Given the description of an element on the screen output the (x, y) to click on. 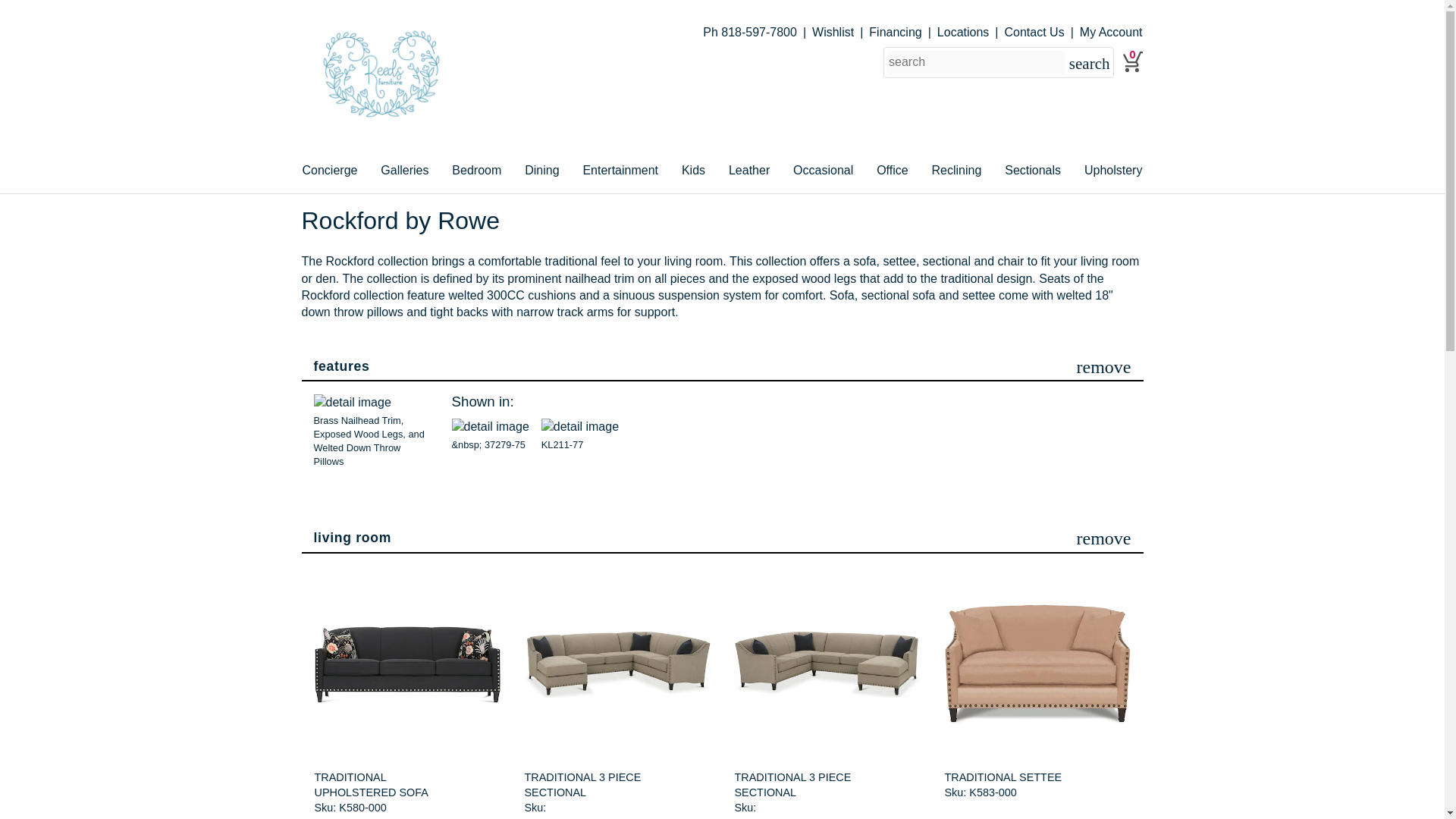
Locations (970, 32)
Click to view this Item. (592, 784)
Contact Us (1041, 32)
Click to view this Item. (1037, 664)
Click to view this Item. (617, 664)
View Larger Image (371, 431)
Click to view this Item. (826, 664)
Click to view this Item. (381, 784)
Wishlist (840, 31)
Concierge (328, 171)
Ph 818-597-7800 (757, 31)
Galleries (404, 171)
View Larger Image (579, 435)
Financing (903, 31)
0 (1133, 65)
